Given the description of an element on the screen output the (x, y) to click on. 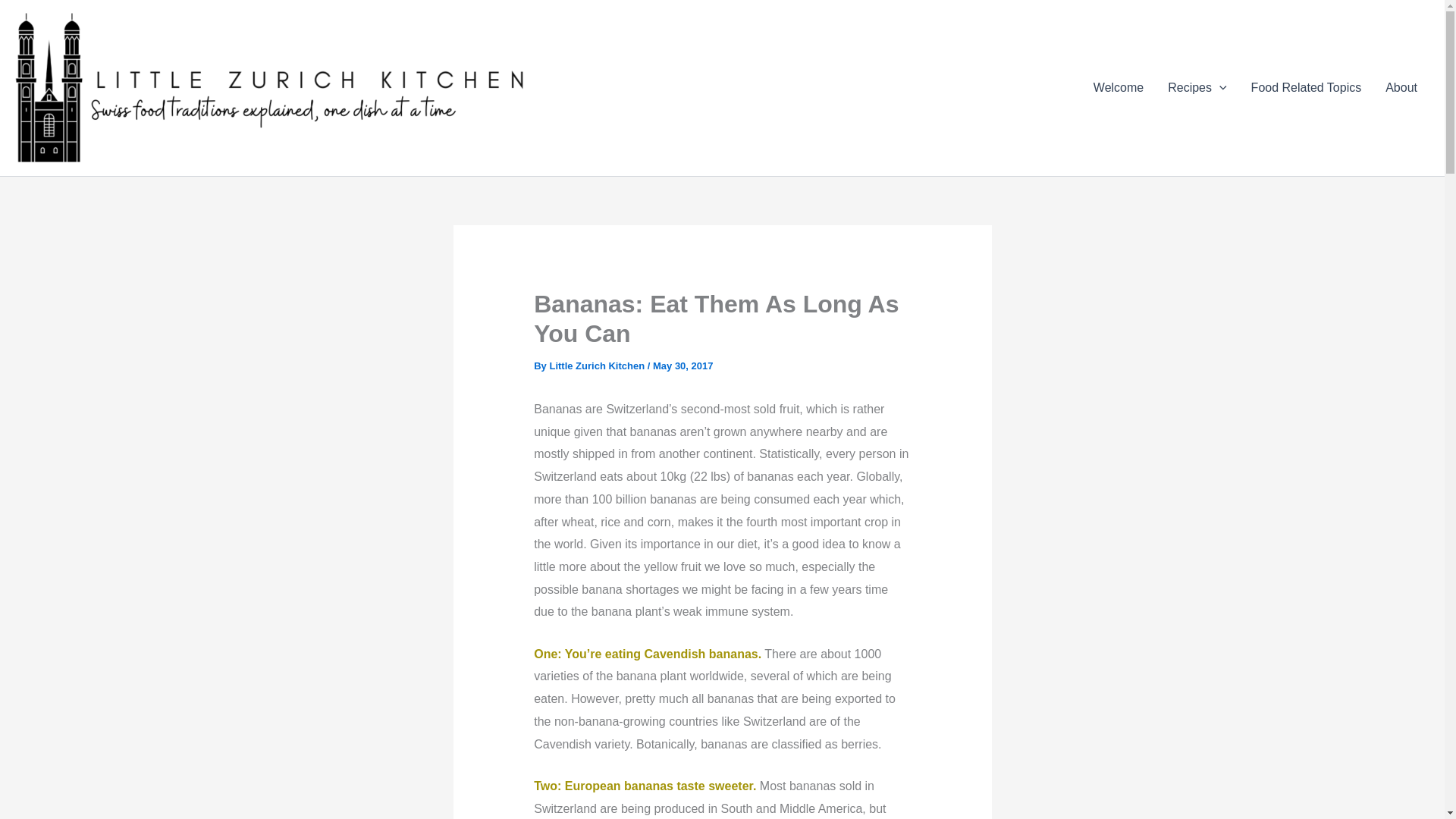
Food Related Topics (1306, 87)
View all posts by Little Zurich Kitchen (597, 365)
Little Zurich Kitchen (597, 365)
About (1401, 87)
Recipes (1197, 87)
Welcome (1118, 87)
